Given the description of an element on the screen output the (x, y) to click on. 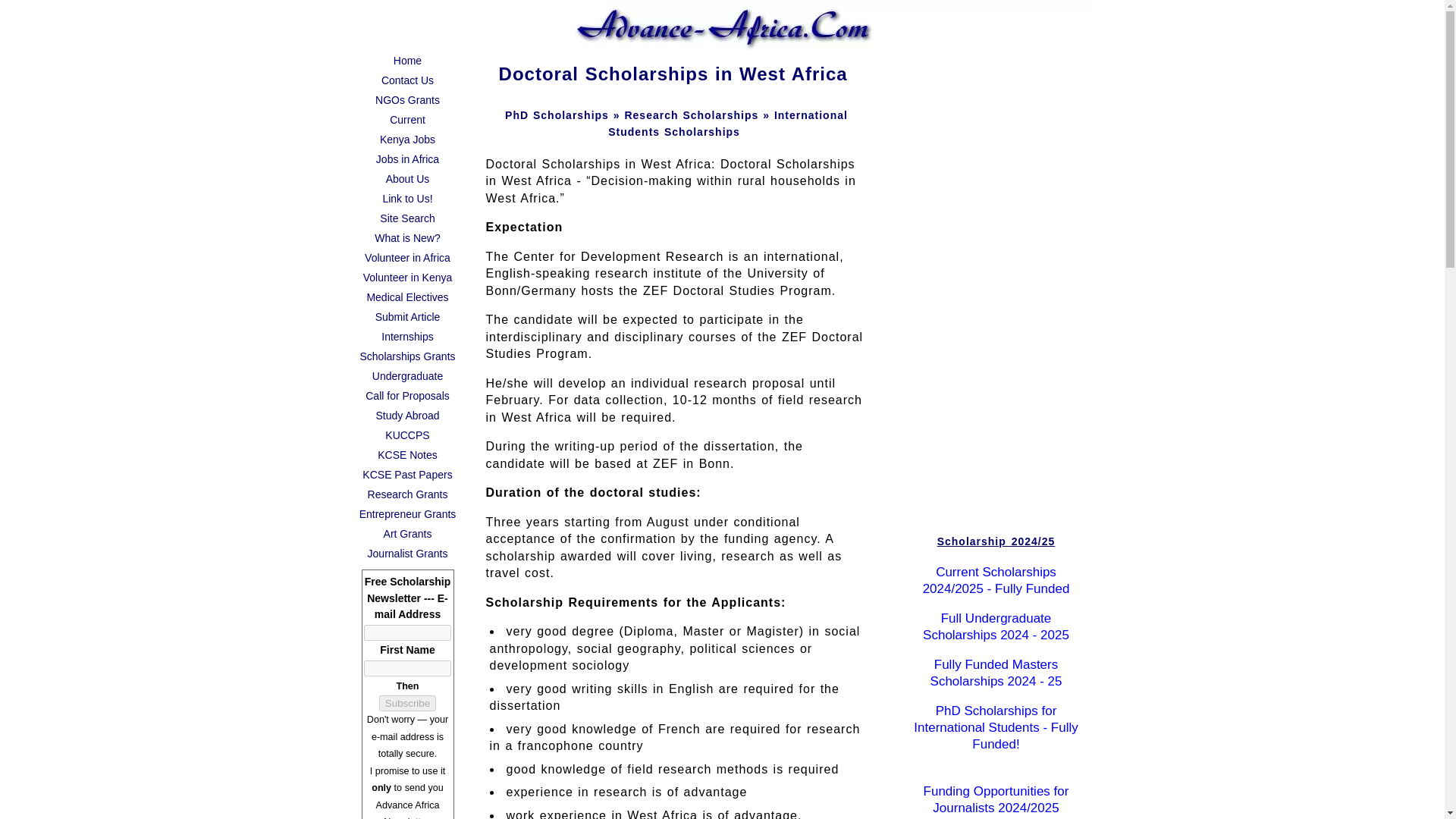
Entrepreneur Grants (407, 514)
Scholarships Grants (407, 356)
Site Search (407, 218)
Volunteer in Africa (407, 257)
Call for Proposals (407, 395)
Link to Us! (407, 198)
Medical Electives (407, 297)
Research Grants (407, 494)
Volunteer in Kenya (407, 277)
KCSE Past Papers (407, 474)
Home (407, 60)
Subscribe (406, 702)
Internships (407, 336)
Journalist Grants (407, 553)
KCSE Notes (407, 455)
